Given the description of an element on the screen output the (x, y) to click on. 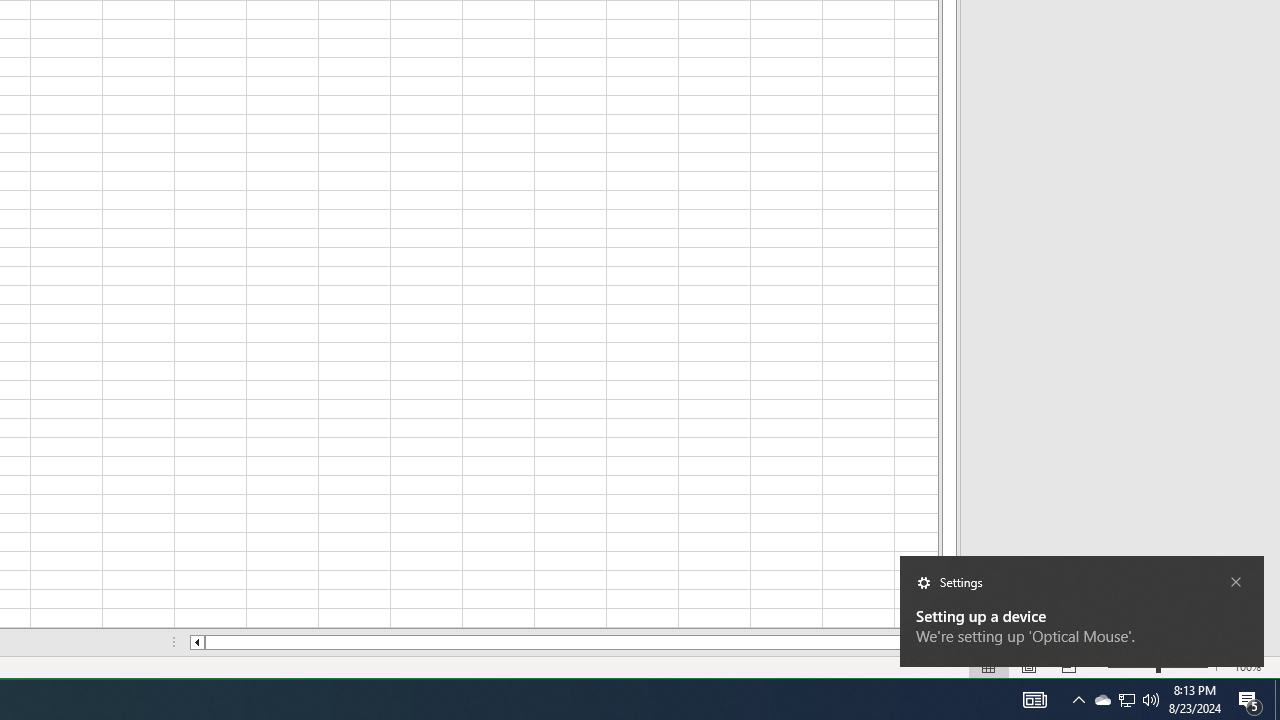
Column right (932, 642)
Line down (948, 622)
Page right (917, 642)
Page Break Preview (1069, 667)
